Given the description of an element on the screen output the (x, y) to click on. 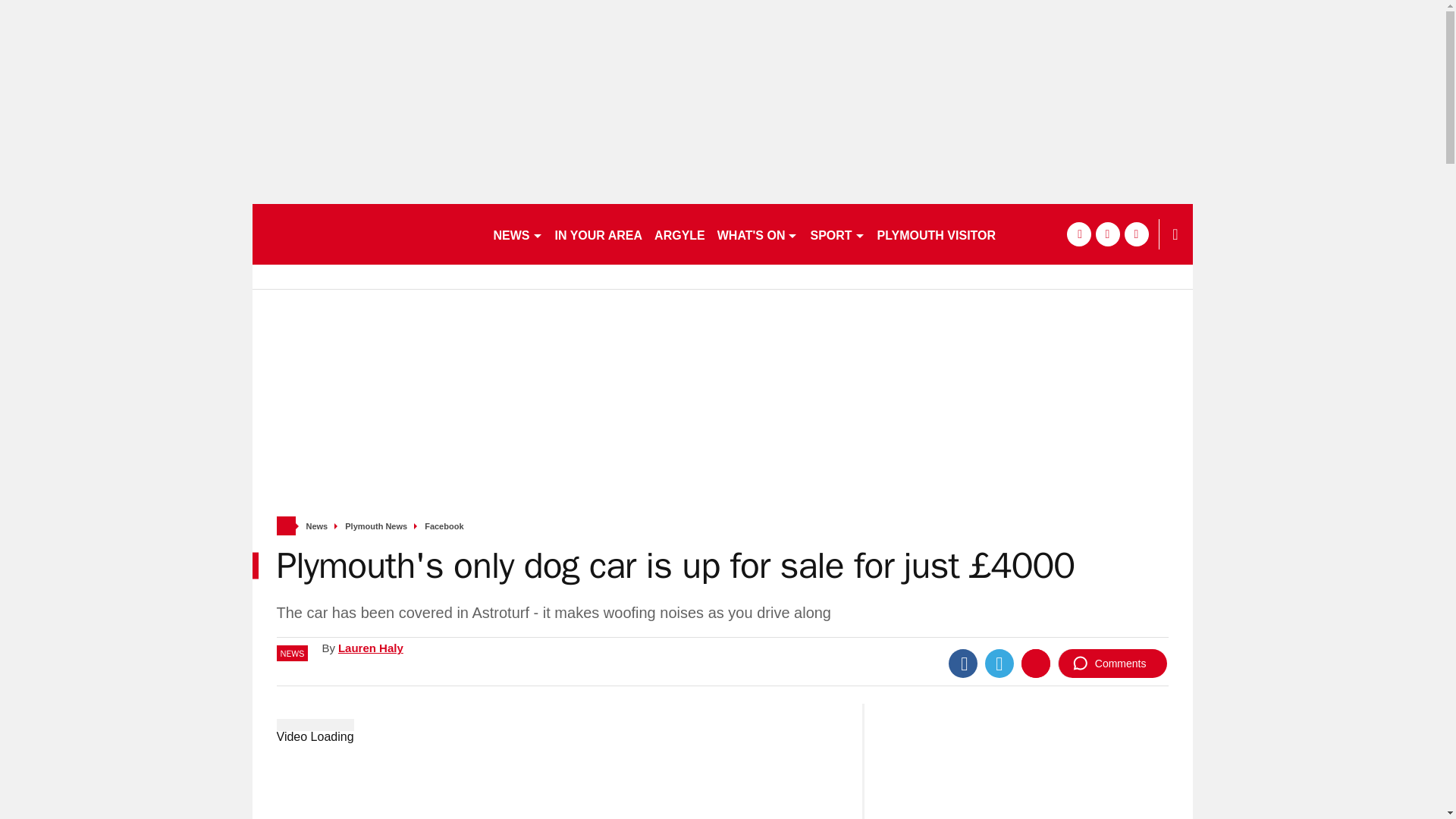
plymouthherald (365, 233)
WHAT'S ON (758, 233)
NEWS (517, 233)
PLYMOUTH VISITOR GUIDE (956, 233)
Facebook (962, 663)
IN YOUR AREA (598, 233)
facebook (1077, 233)
Comments (1112, 663)
twitter (1106, 233)
ARGYLE (679, 233)
